Given the description of an element on the screen output the (x, y) to click on. 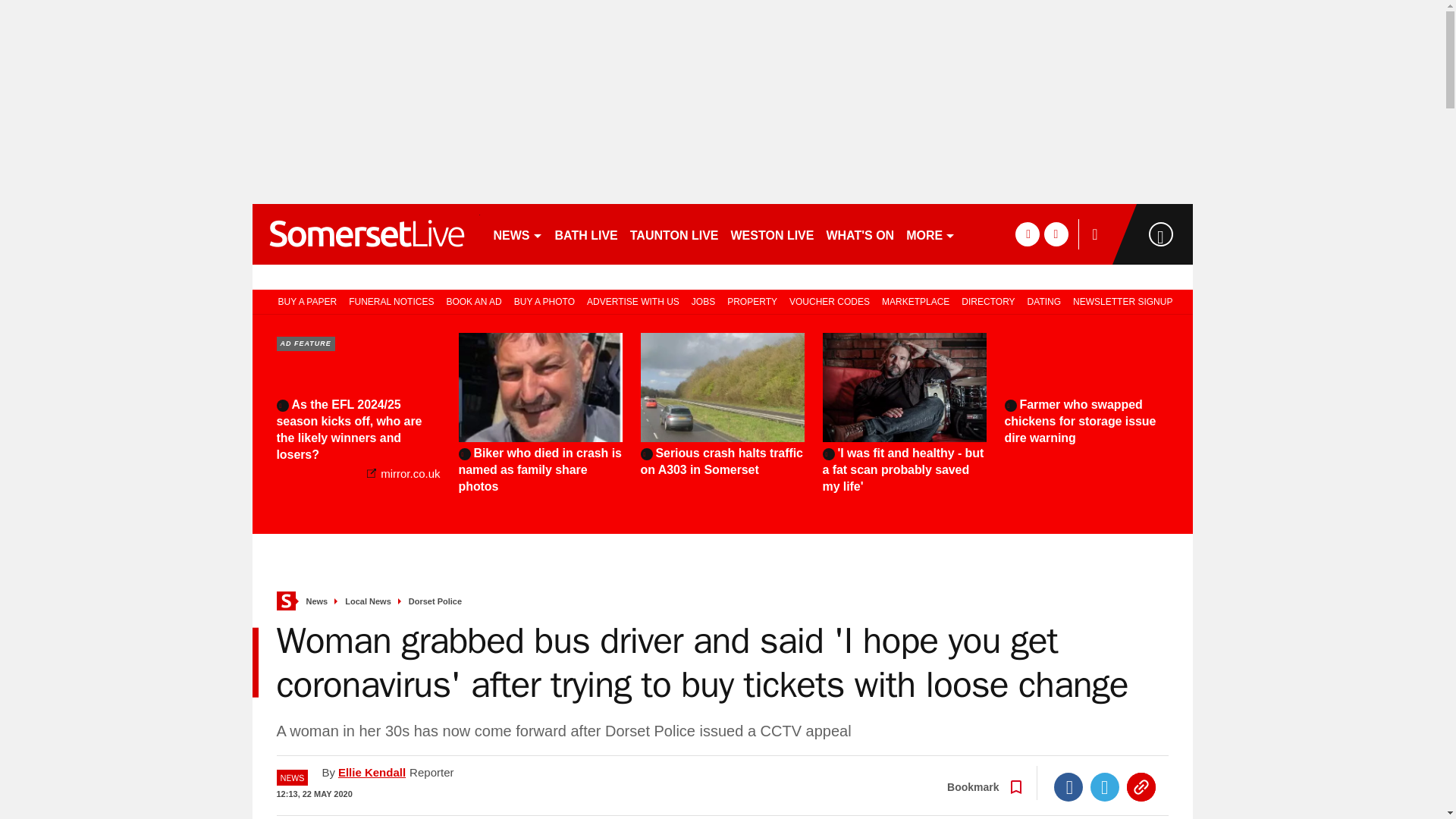
TAUNTON LIVE (674, 233)
WESTON LIVE (773, 233)
Twitter (1104, 787)
NEWS (517, 233)
Facebook (1068, 787)
facebook (1026, 233)
BATH LIVE (586, 233)
MORE (929, 233)
WHAT'S ON (859, 233)
somersetlive (365, 233)
